Given the description of an element on the screen output the (x, y) to click on. 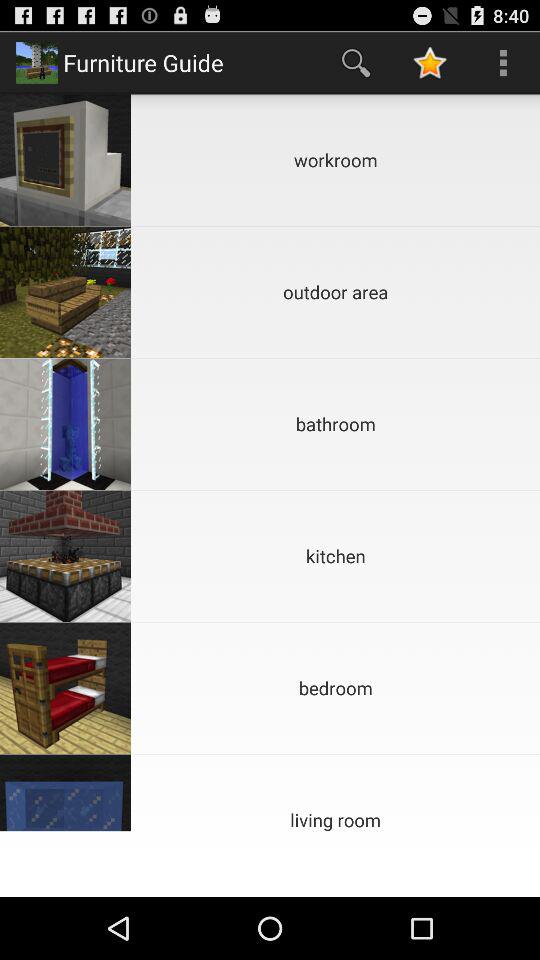
swipe to the kitchen (335, 555)
